Given the description of an element on the screen output the (x, y) to click on. 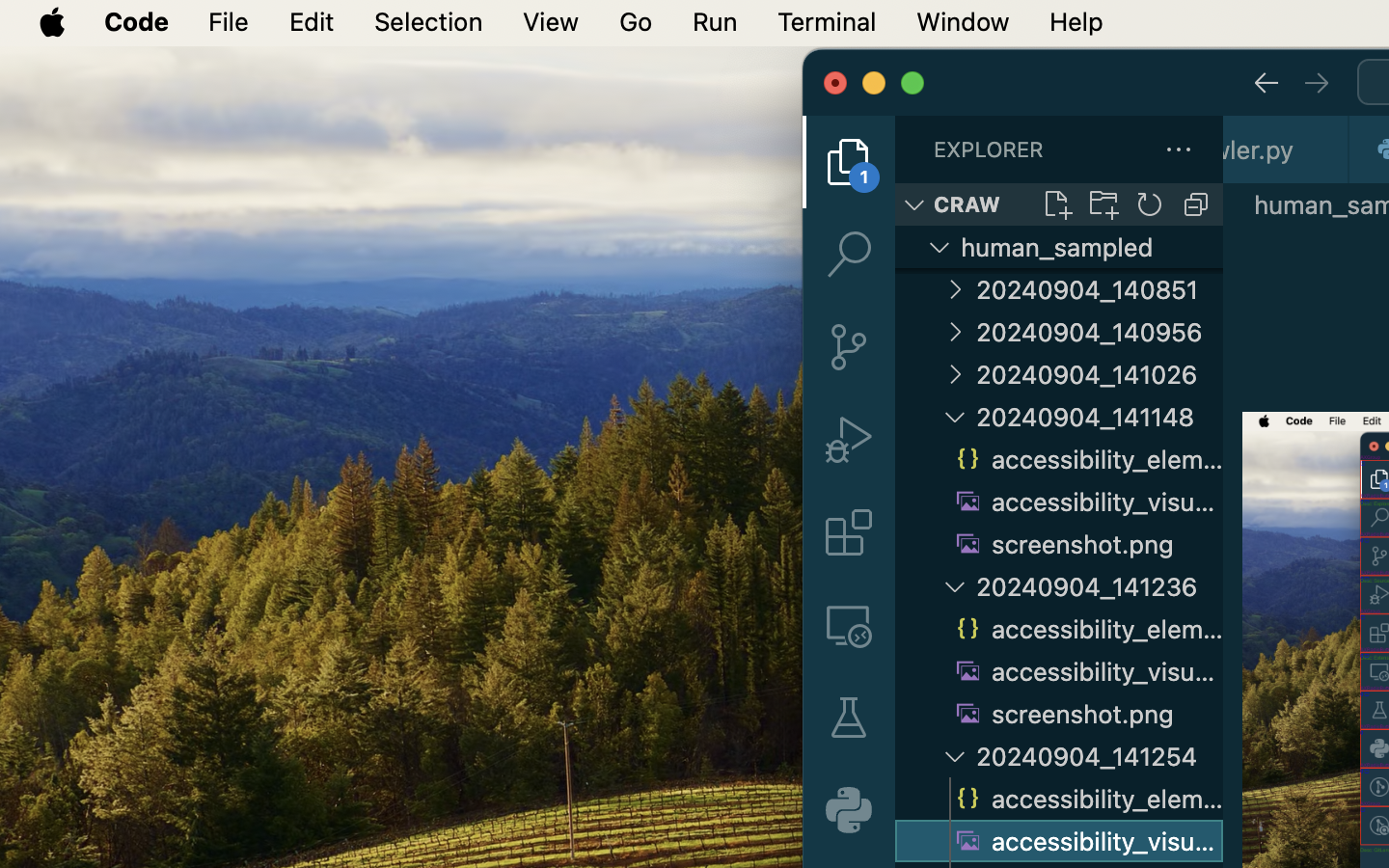
 Element type: AXButton (1266, 82)
EXPLORER Element type: AXStaticText (988, 149)
0 os_crawler.py  Element type: AXRadioButton (1286, 149)
